Given the description of an element on the screen output the (x, y) to click on. 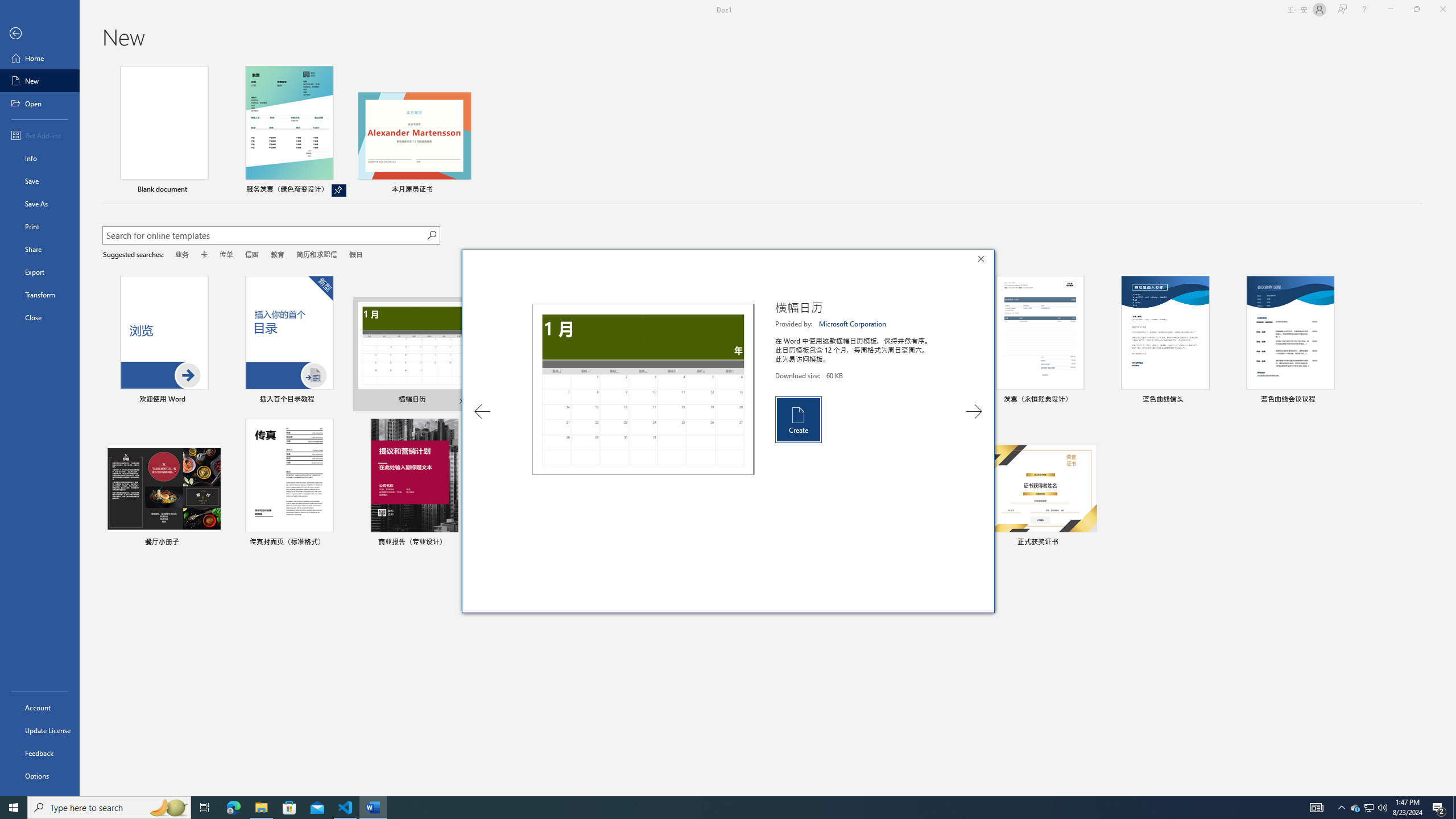
Notification Chevron (1341, 807)
Start searching (431, 235)
Export (1355, 807)
Blank document (40, 271)
Save As (164, 131)
Running applications (40, 203)
Transform (717, 807)
